Given the description of an element on the screen output the (x, y) to click on. 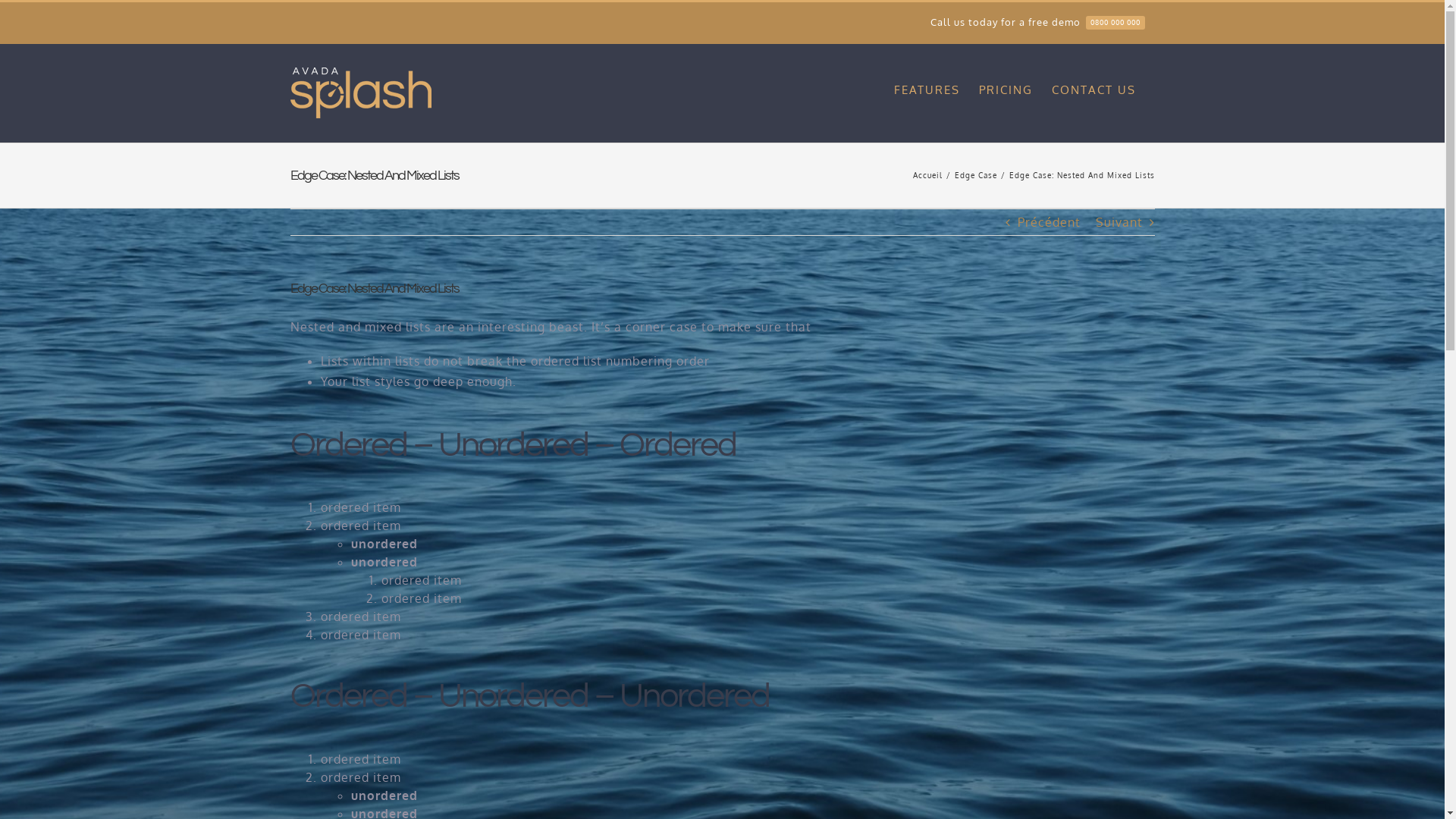
CONTACT US Element type: text (1093, 88)
Suivant Element type: text (1118, 222)
Call us today for a free demo
0800 000 000 Element type: text (1037, 22)
Edge Case Element type: text (974, 174)
FEATURES Element type: text (926, 88)
PRICING Element type: text (1005, 88)
Accueil Element type: text (927, 174)
